Given the description of an element on the screen output the (x, y) to click on. 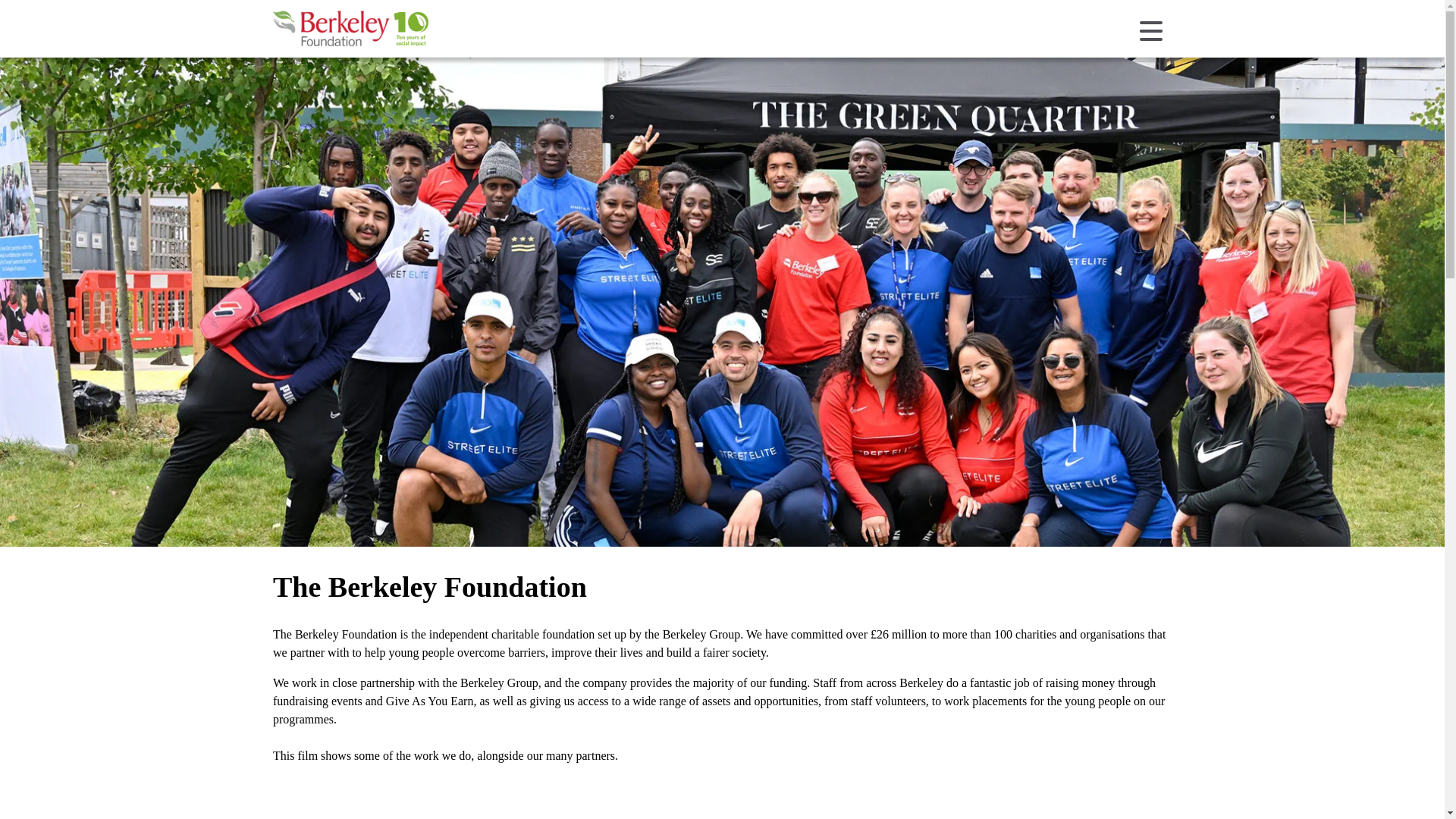
Berkeley Foundation (353, 28)
Watch Berkeley Foundation Video (722, 804)
